Given the description of an element on the screen output the (x, y) to click on. 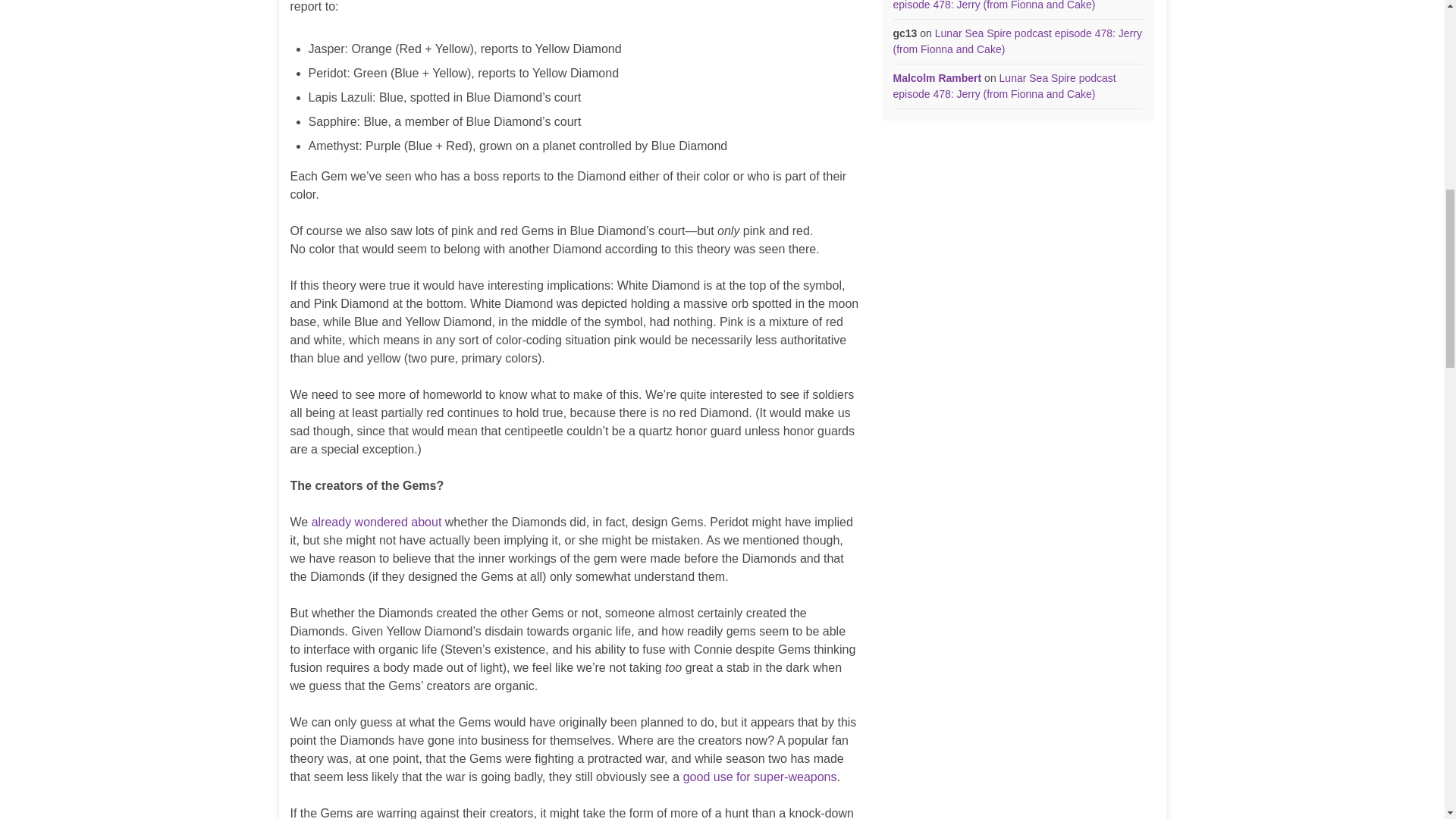
good use for super-weapons (759, 776)
Malcolm Rambert (937, 78)
already wondered about (376, 521)
